Given the description of an element on the screen output the (x, y) to click on. 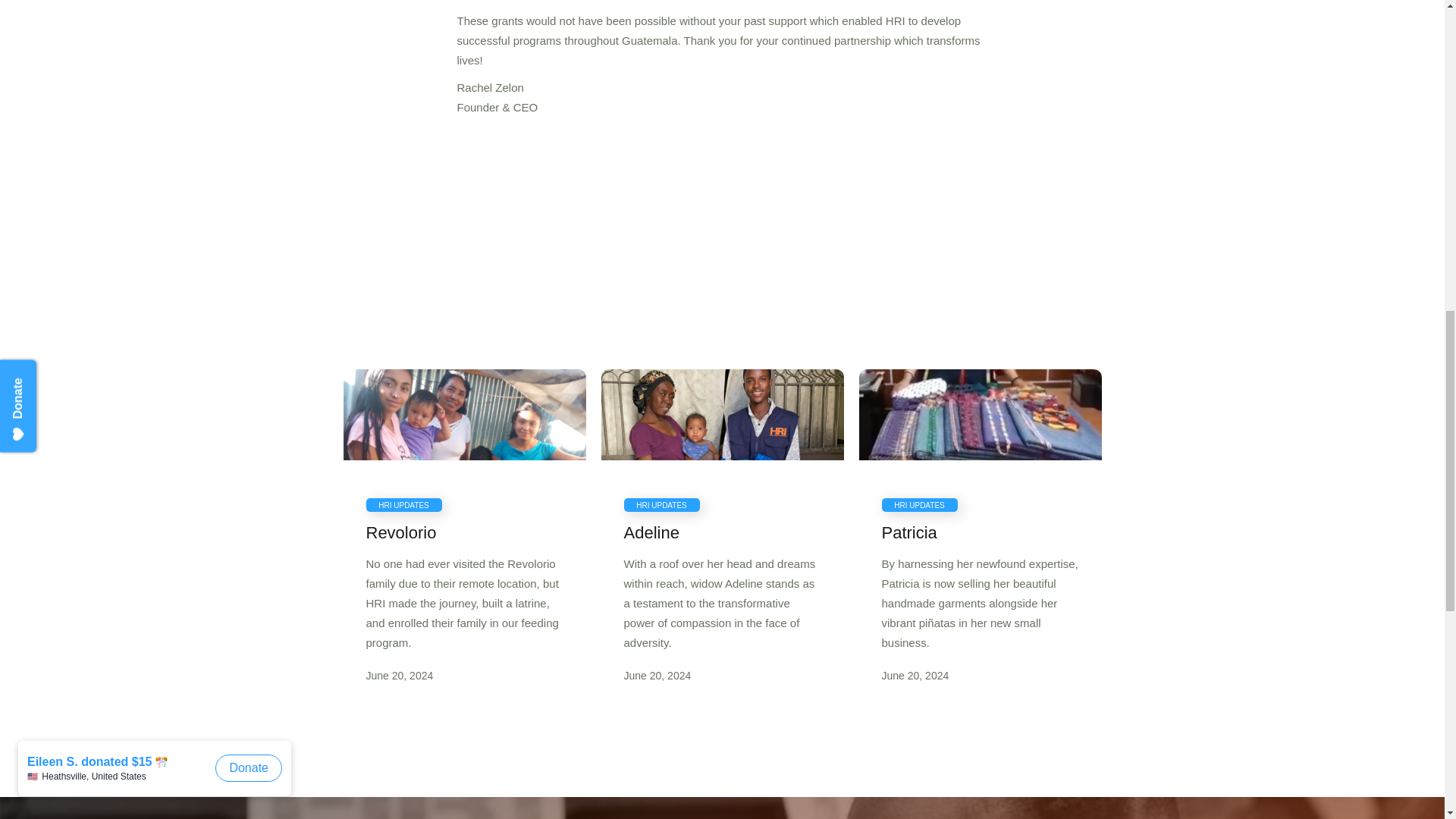
June 20, 2024 (979, 675)
June 20, 2024 (463, 675)
Adeline (722, 532)
Revolorio (463, 532)
June 20, 2024 (722, 675)
Patricia (979, 532)
